Given the description of an element on the screen output the (x, y) to click on. 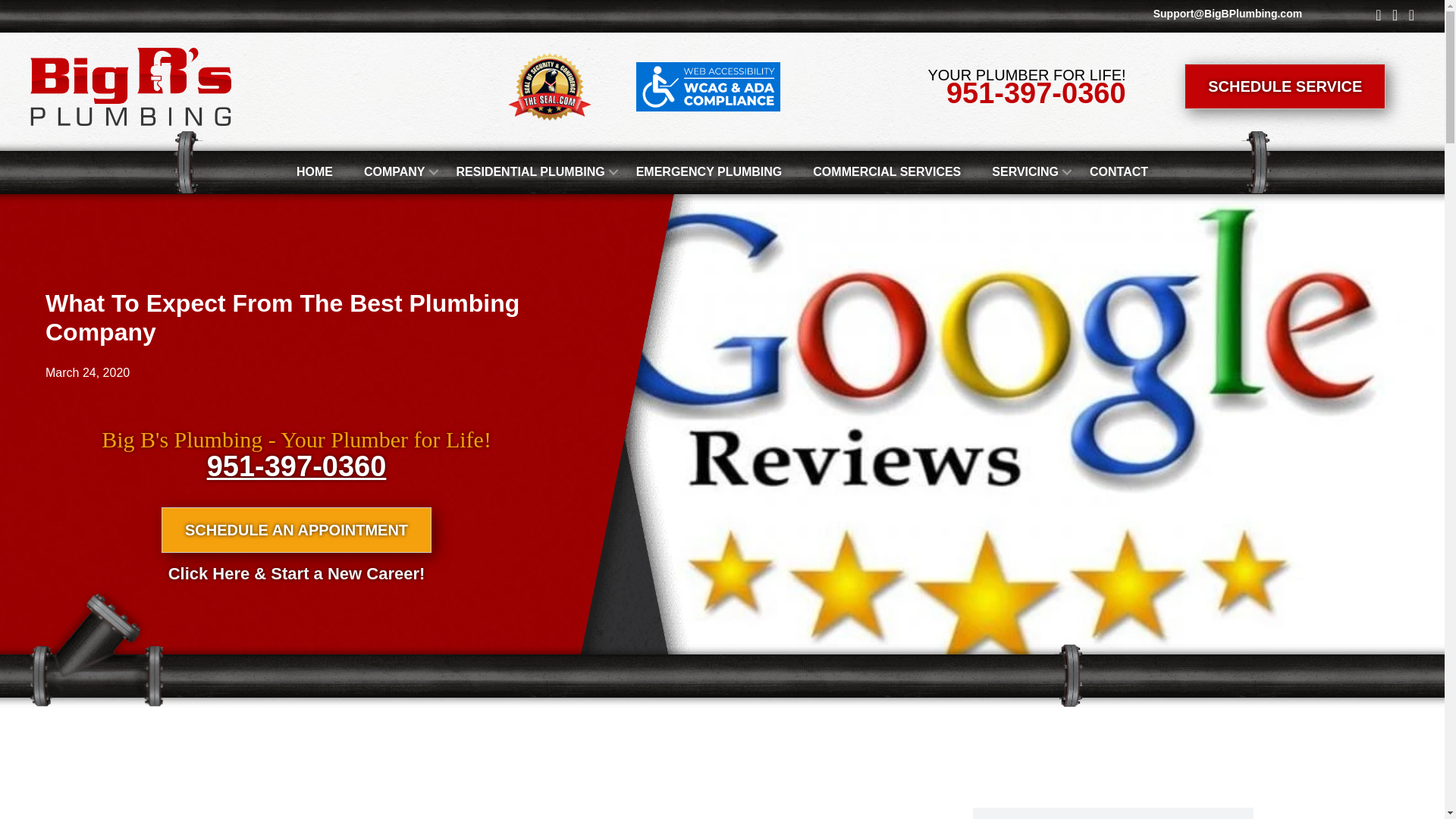
COMPANY (395, 171)
RESIDENTIAL PLUMBING (530, 171)
HOME (314, 171)
951-397-0360 (1035, 92)
SCHEDULE SERVICE (1285, 85)
 951-397-0360 (296, 466)
951-397-0360 (1035, 92)
